Given the description of an element on the screen output the (x, y) to click on. 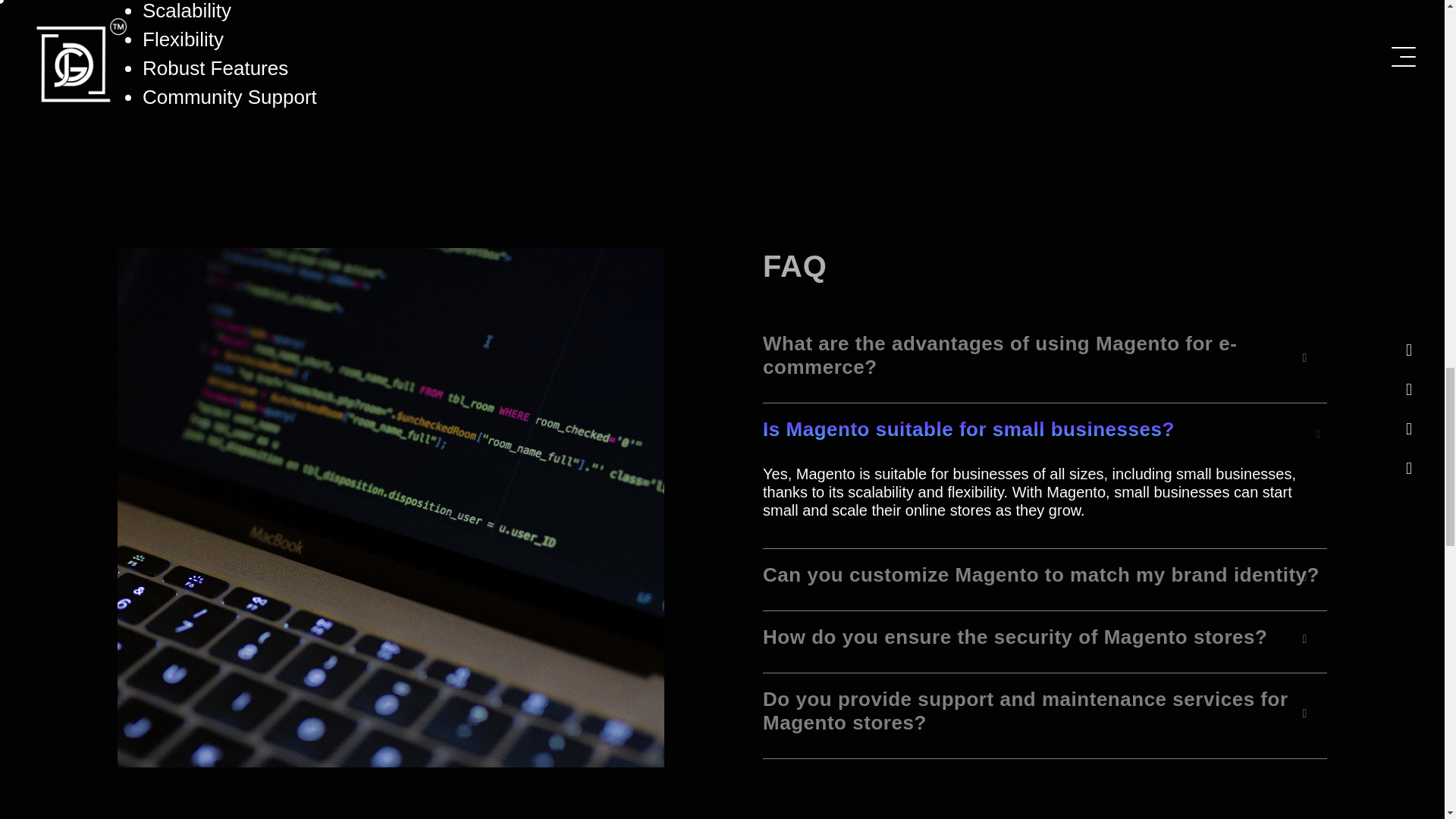
Can you customize Magento to match my brand identity? (1044, 579)
What are the advantages of using Magento for e-commerce? (1044, 359)
How do you ensure the security of Magento stores? (1044, 641)
Is Magento suitable for small businesses? (1044, 434)
